Given the description of an element on the screen output the (x, y) to click on. 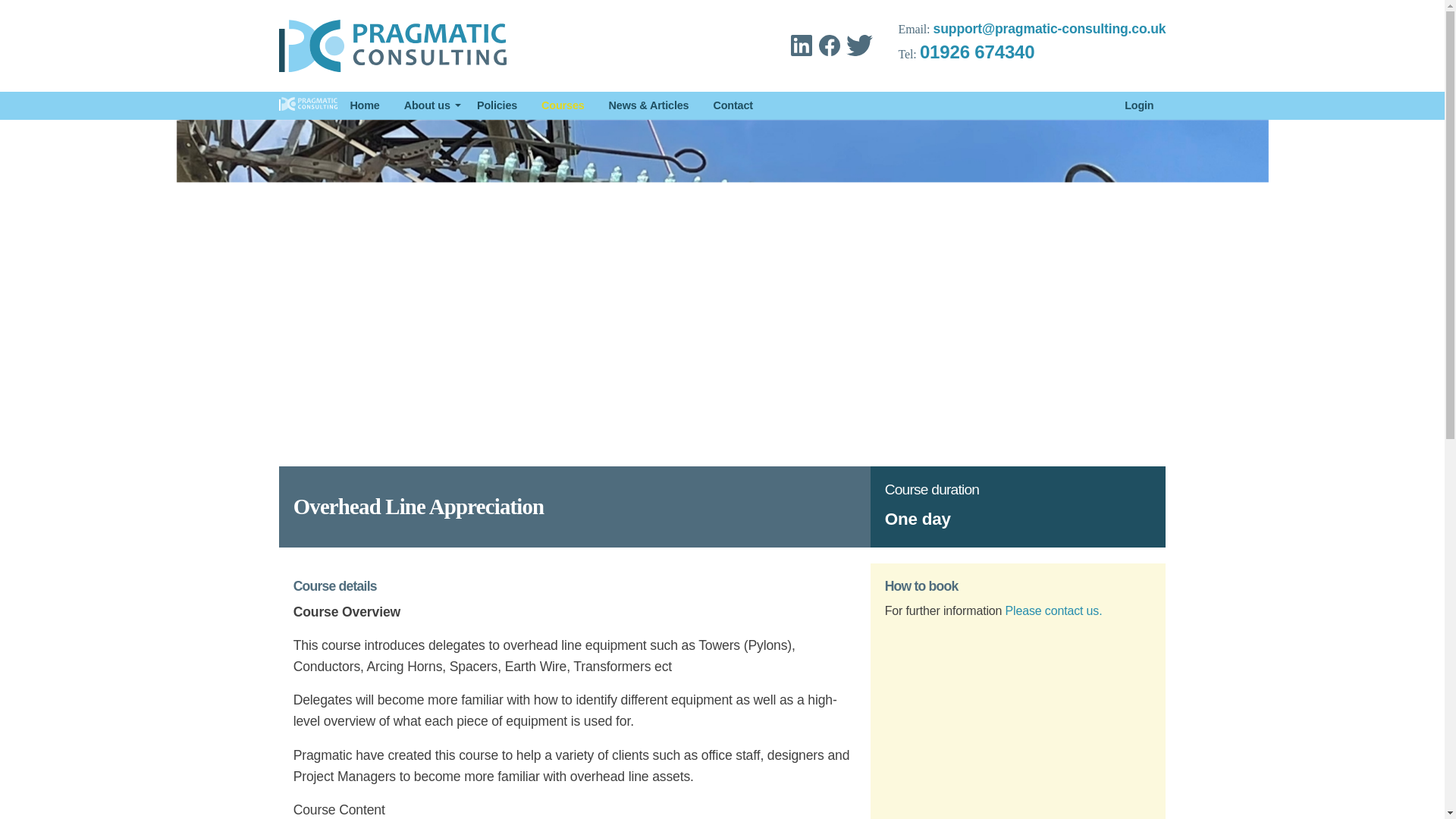
Policies (496, 105)
Twitter (858, 45)
Contact (732, 105)
Pragmatic Consulting Ltd (392, 45)
Home (364, 105)
Courses (562, 105)
About us (427, 105)
Login (1139, 105)
01926 674340 (977, 51)
Facebook (829, 45)
Please contact us. (1054, 610)
LinkedIn (801, 45)
